Given the description of an element on the screen output the (x, y) to click on. 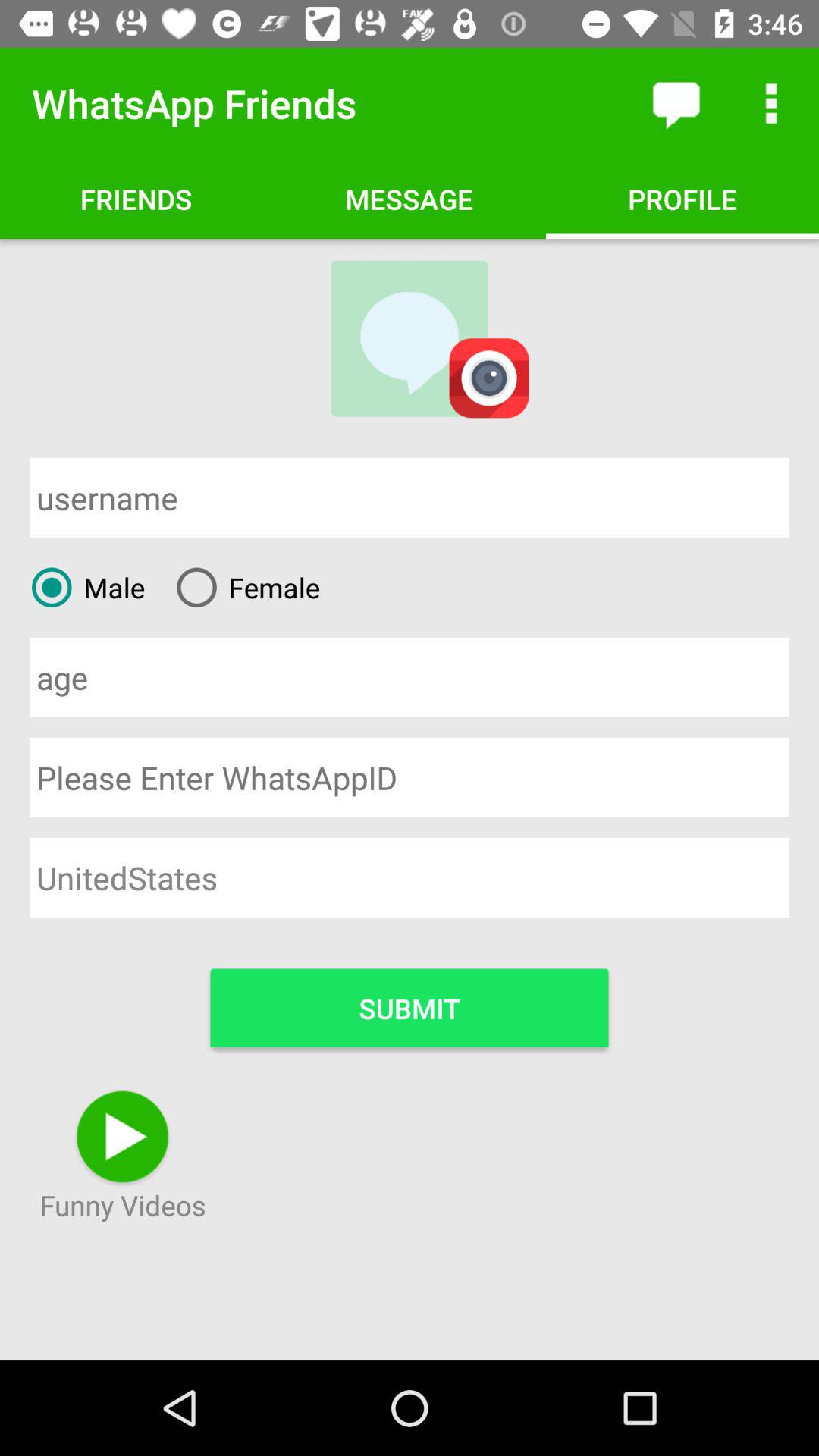
choose item next to the female item (82, 587)
